Given the description of an element on the screen output the (x, y) to click on. 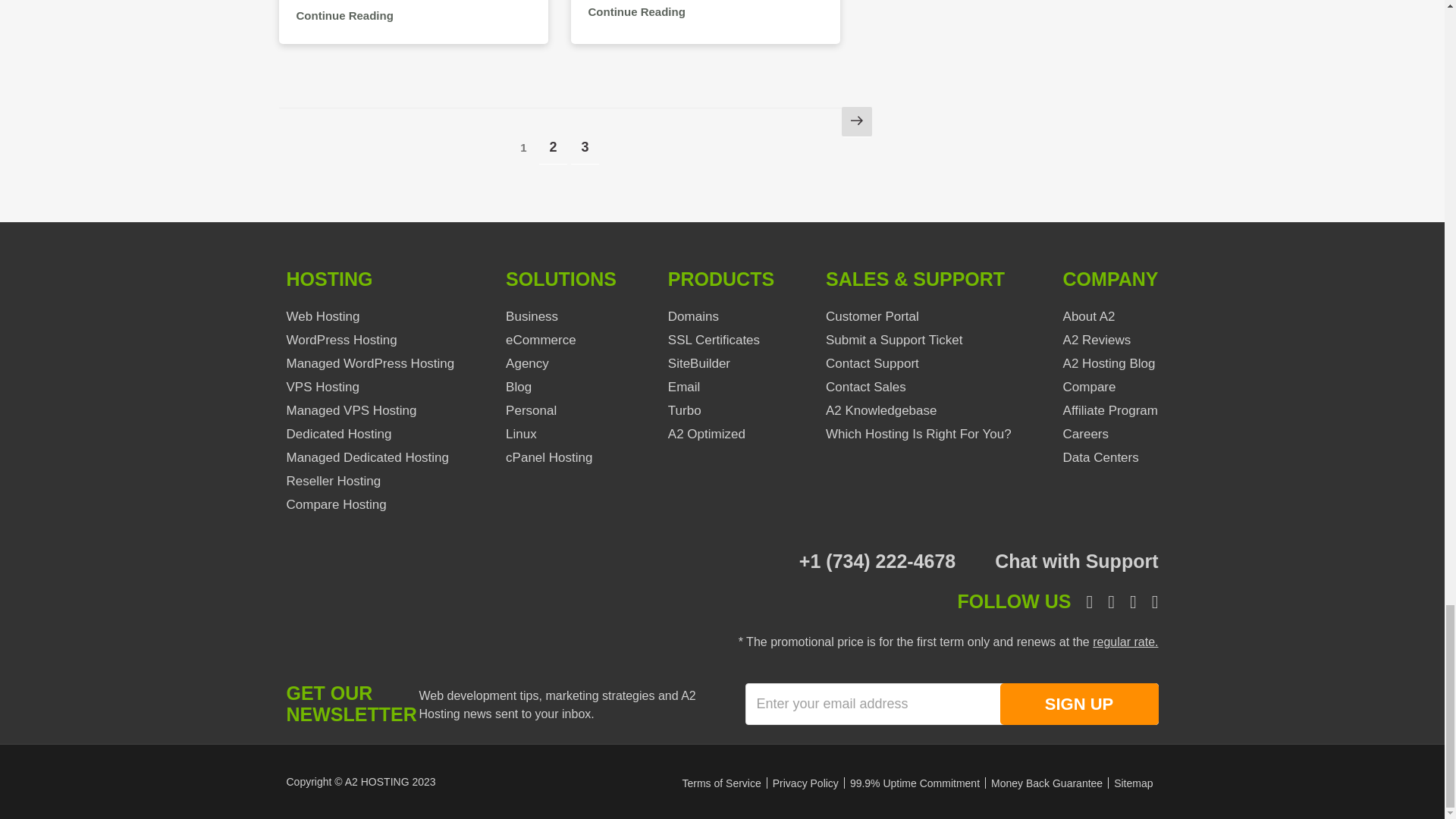
SIGN UP (1077, 703)
